Given the description of an element on the screen output the (x, y) to click on. 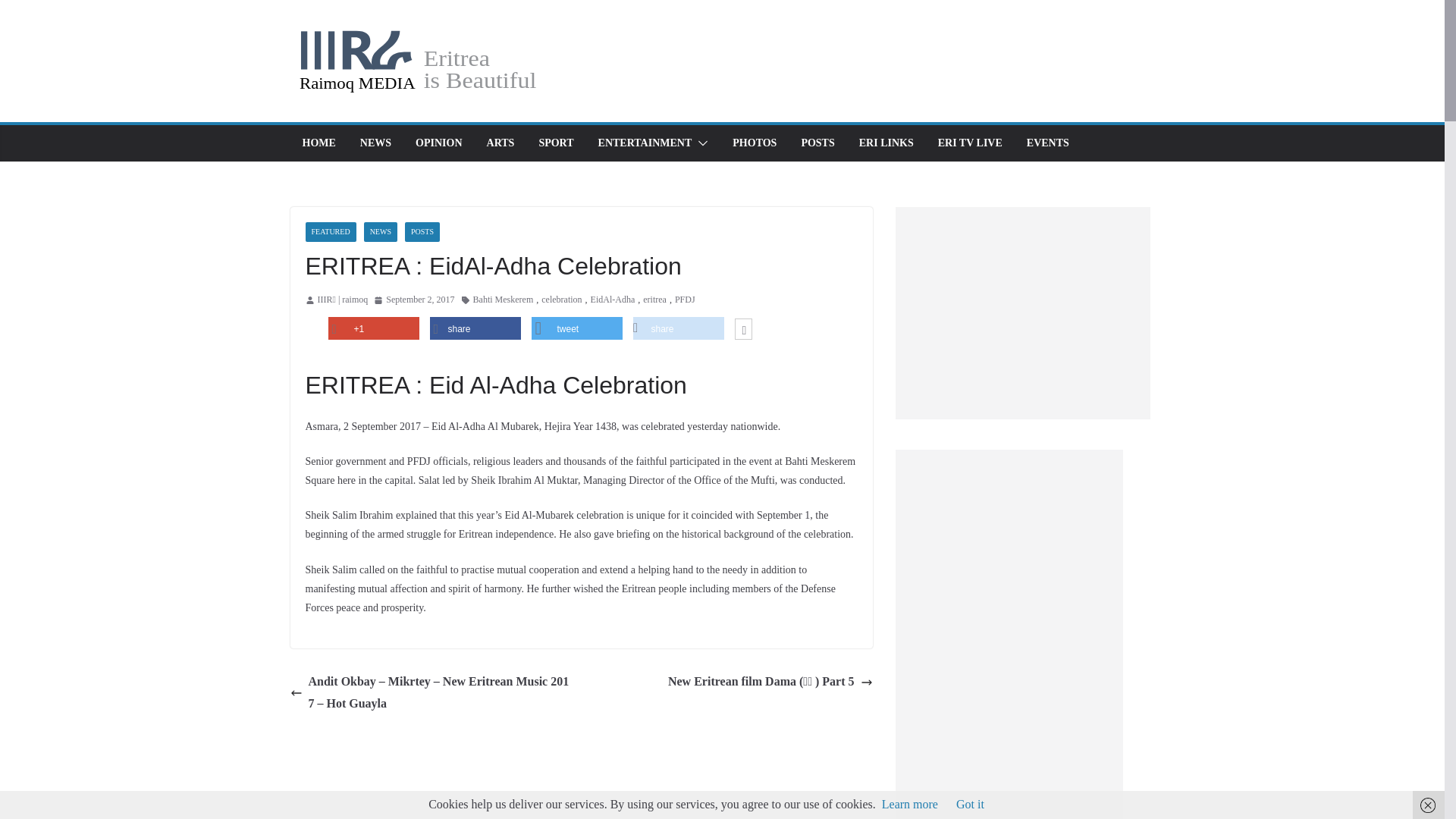
PFDJ (685, 299)
SPORT (555, 142)
ERI LINKS (886, 142)
FEATURED (329, 231)
tweet (576, 328)
OPINION (437, 142)
ERI TV LIVE (970, 142)
NEWS (380, 231)
share (677, 328)
eritrea (654, 299)
POSTS (817, 142)
2:15 pm (414, 299)
Advertisement (1022, 313)
share (474, 328)
PHOTOS (754, 142)
